Given the description of an element on the screen output the (x, y) to click on. 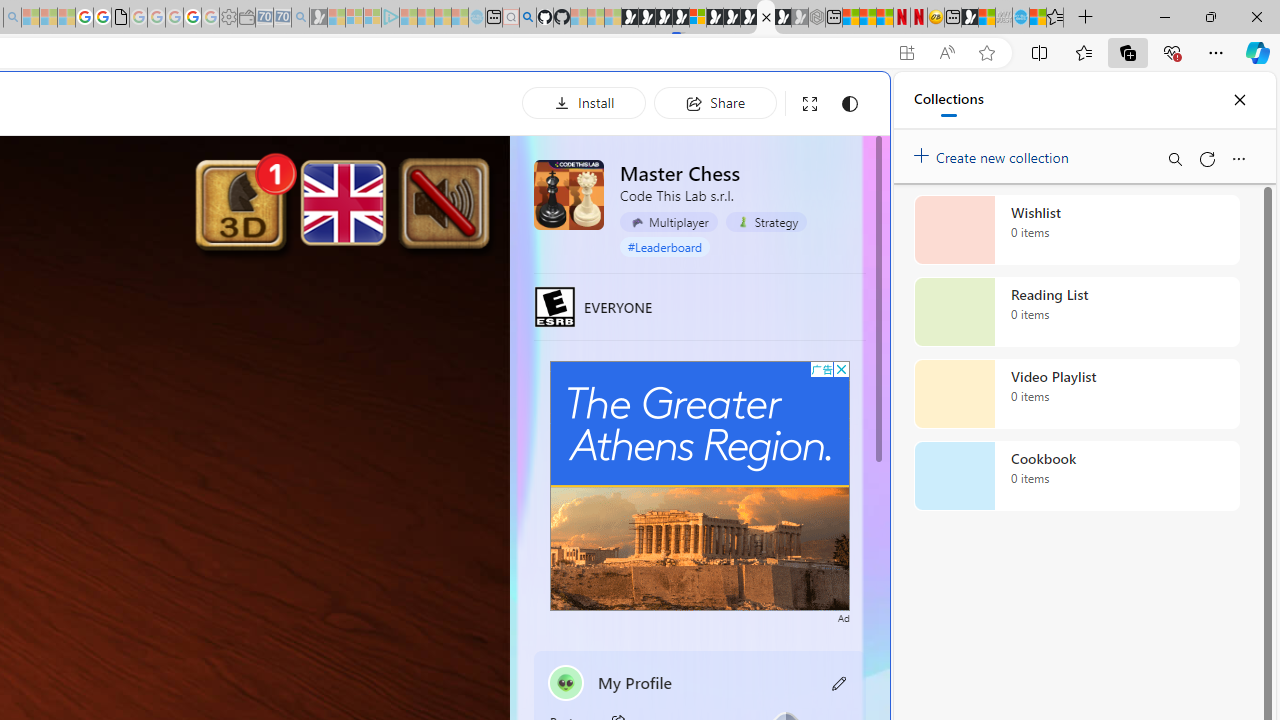
Play Cave FRVR in your browser | Games from Microsoft Start (343, 426)
